Given the description of an element on the screen output the (x, y) to click on. 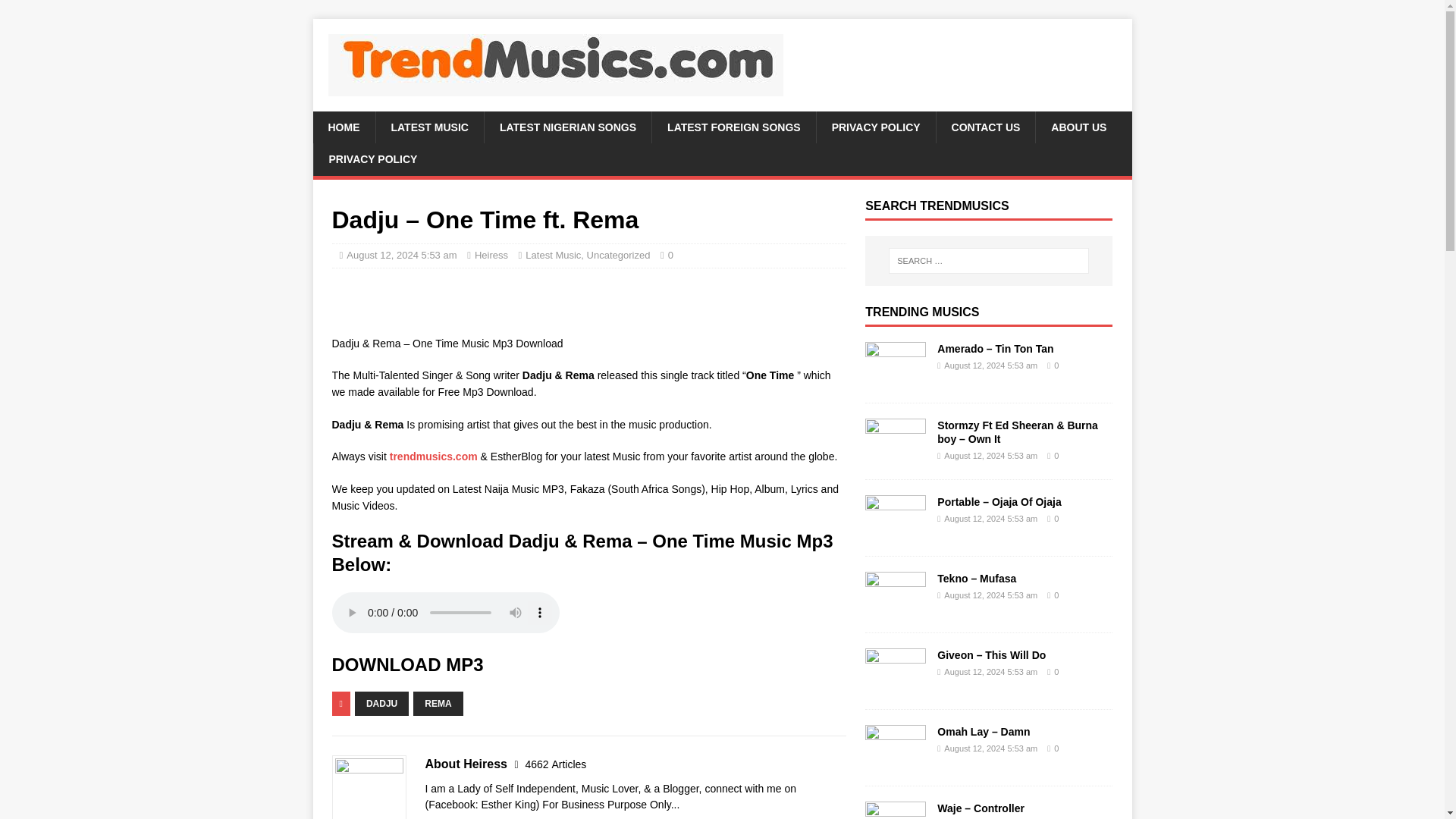
Latest Music (552, 255)
PRIVACY POLICY (372, 159)
trendmusics.com (433, 456)
REMA (438, 703)
More articles written by Heiress' (555, 764)
LATEST NIGERIAN SONGS (566, 127)
4662 Articles (555, 764)
Uncategorized (618, 255)
HOME (343, 127)
LATEST MUSIC (428, 127)
